Given the description of an element on the screen output the (x, y) to click on. 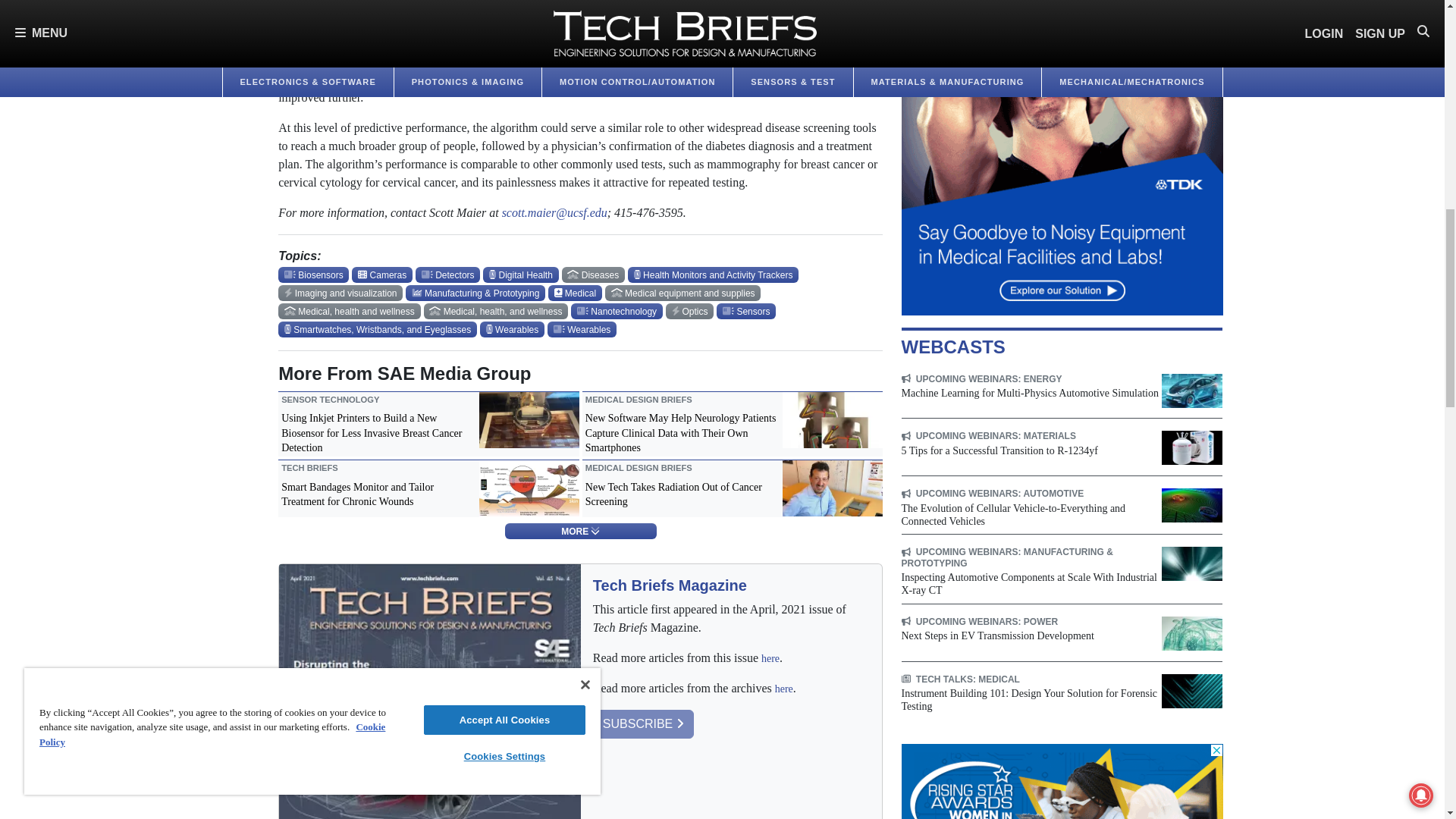
3rd party ad content (1062, 157)
3rd party ad content (1062, 781)
